Given the description of an element on the screen output the (x, y) to click on. 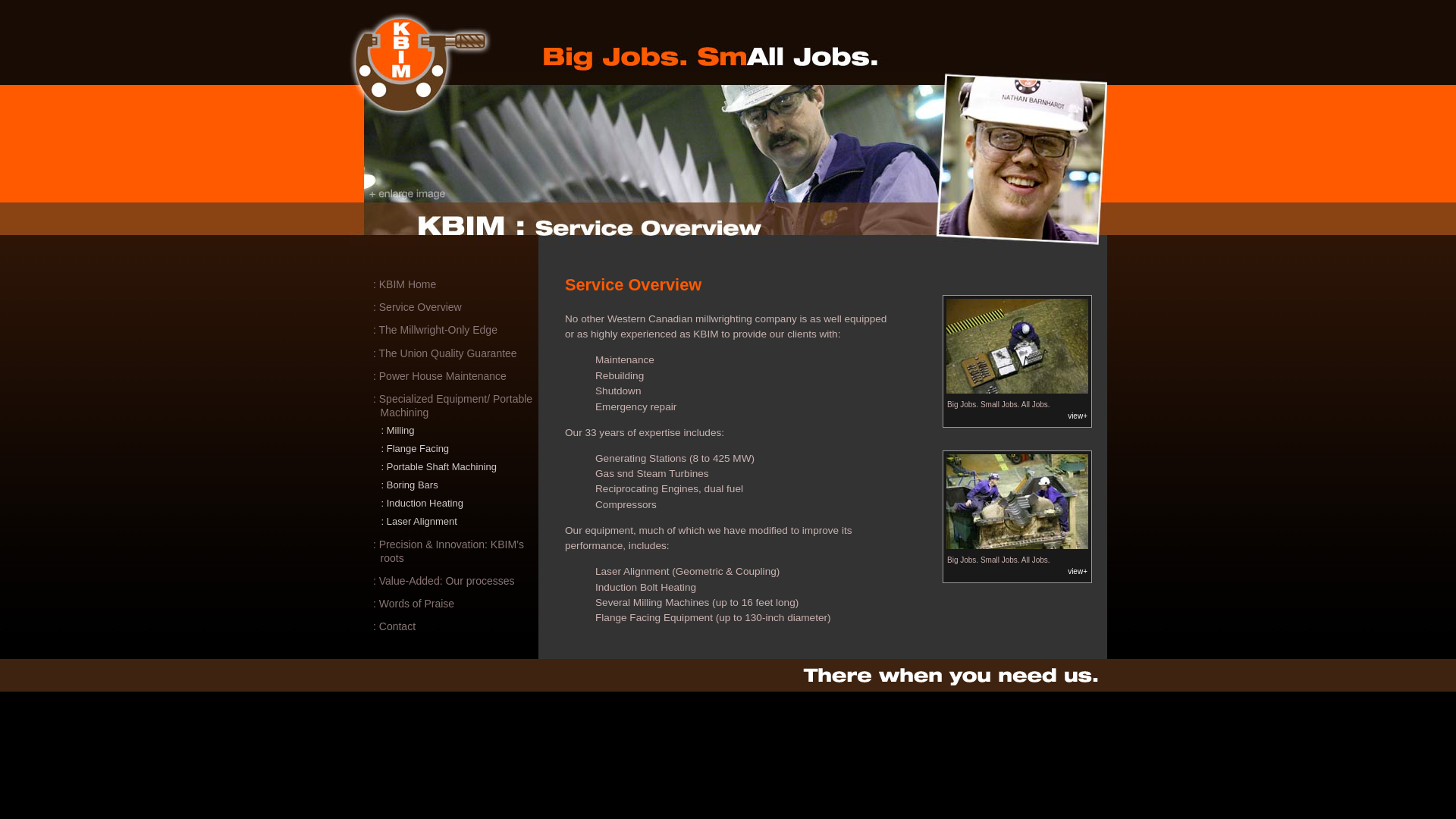
: Flange Facing Element type: text (460, 448)
: Laser Alignment Element type: text (460, 521)
view+ Element type: text (1077, 571)
view+ Element type: text (1077, 415)
: Milling Element type: text (460, 430)
: Service Overview Element type: text (456, 306)
: Words of Praise Element type: text (456, 603)
: Value-Added: Our processes Element type: text (456, 580)
: Portable Shaft Machining Element type: text (460, 467)
: Specialized Equipment/ Portable Machining Element type: text (456, 405)
: Contact Element type: text (456, 626)
: KBIM Home Element type: text (456, 284)
: Power House Maintenance Element type: text (456, 375)
: The Millwright-Only Edge Element type: text (456, 329)
: The Union Quality Guarantee Element type: text (456, 353)
: Induction Heating Element type: text (460, 503)
: Boring Bars Element type: text (460, 485)
